Given the description of an element on the screen output the (x, y) to click on. 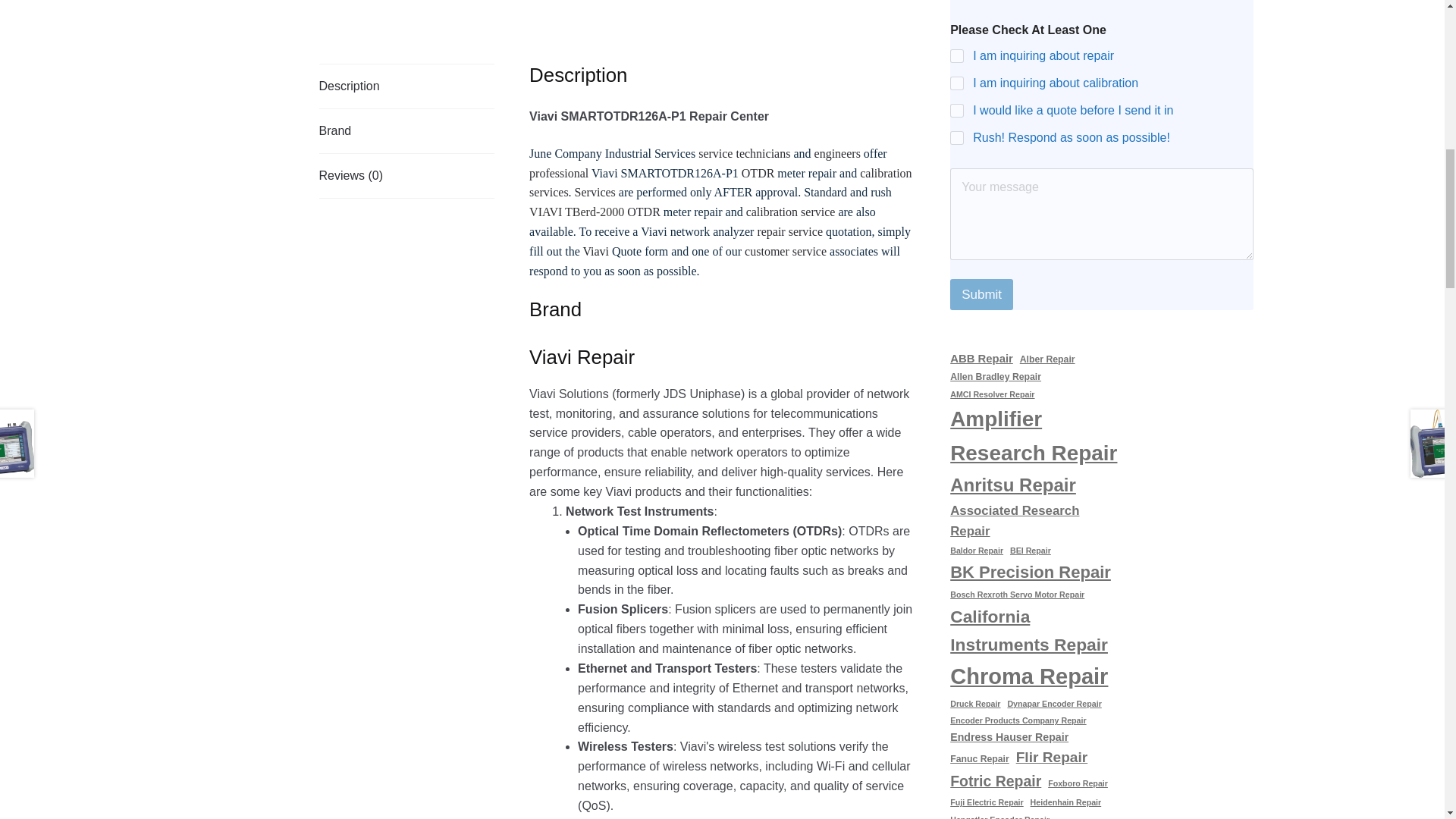
I would like a quote before I send it in (957, 111)
I am inquiring about calibration (957, 83)
Rush! Respond as soon as possible! (957, 138)
I am inquiring about repair (957, 56)
